Given the description of an element on the screen output the (x, y) to click on. 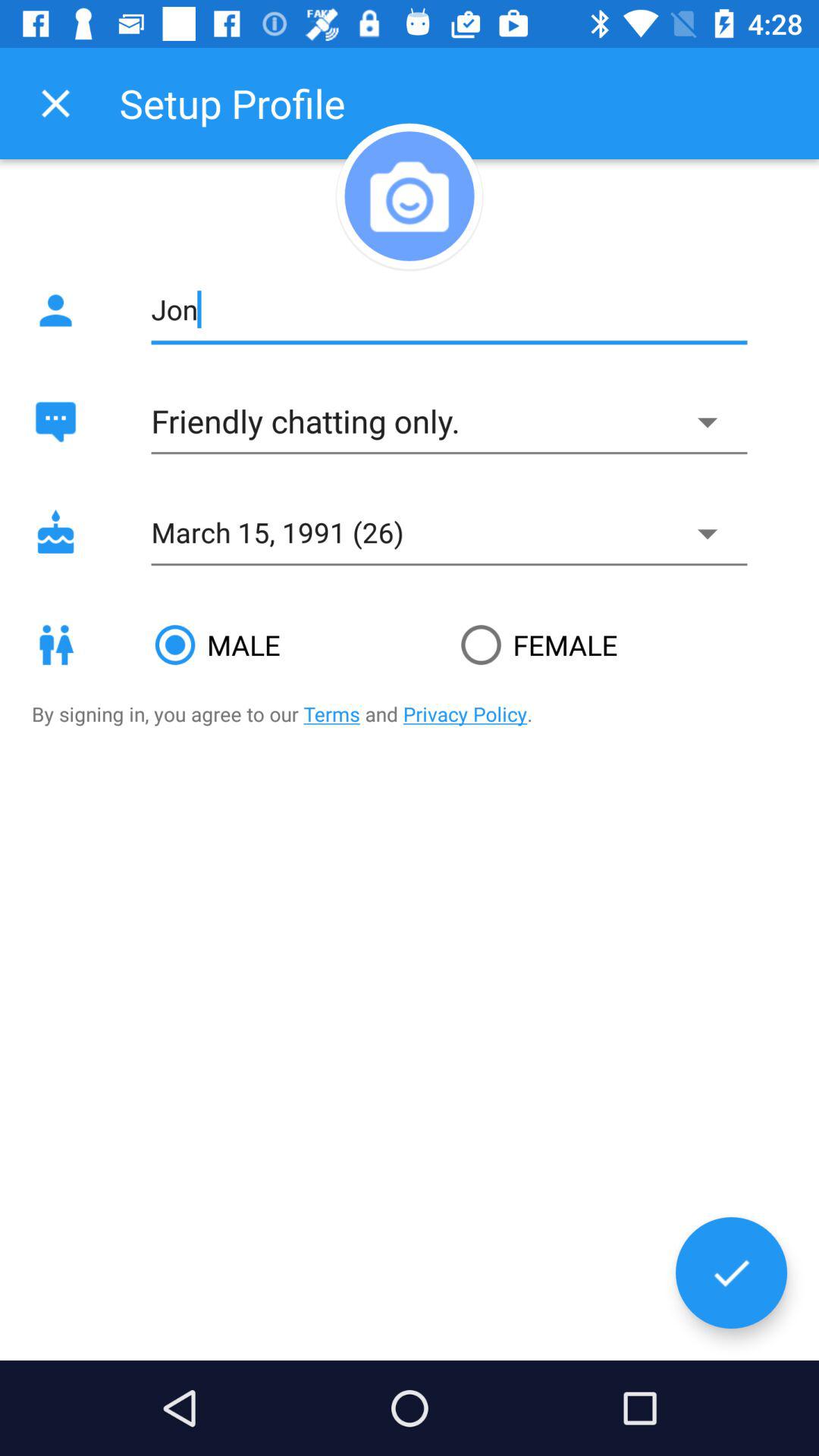
add picture (409, 196)
